Given the description of an element on the screen output the (x, y) to click on. 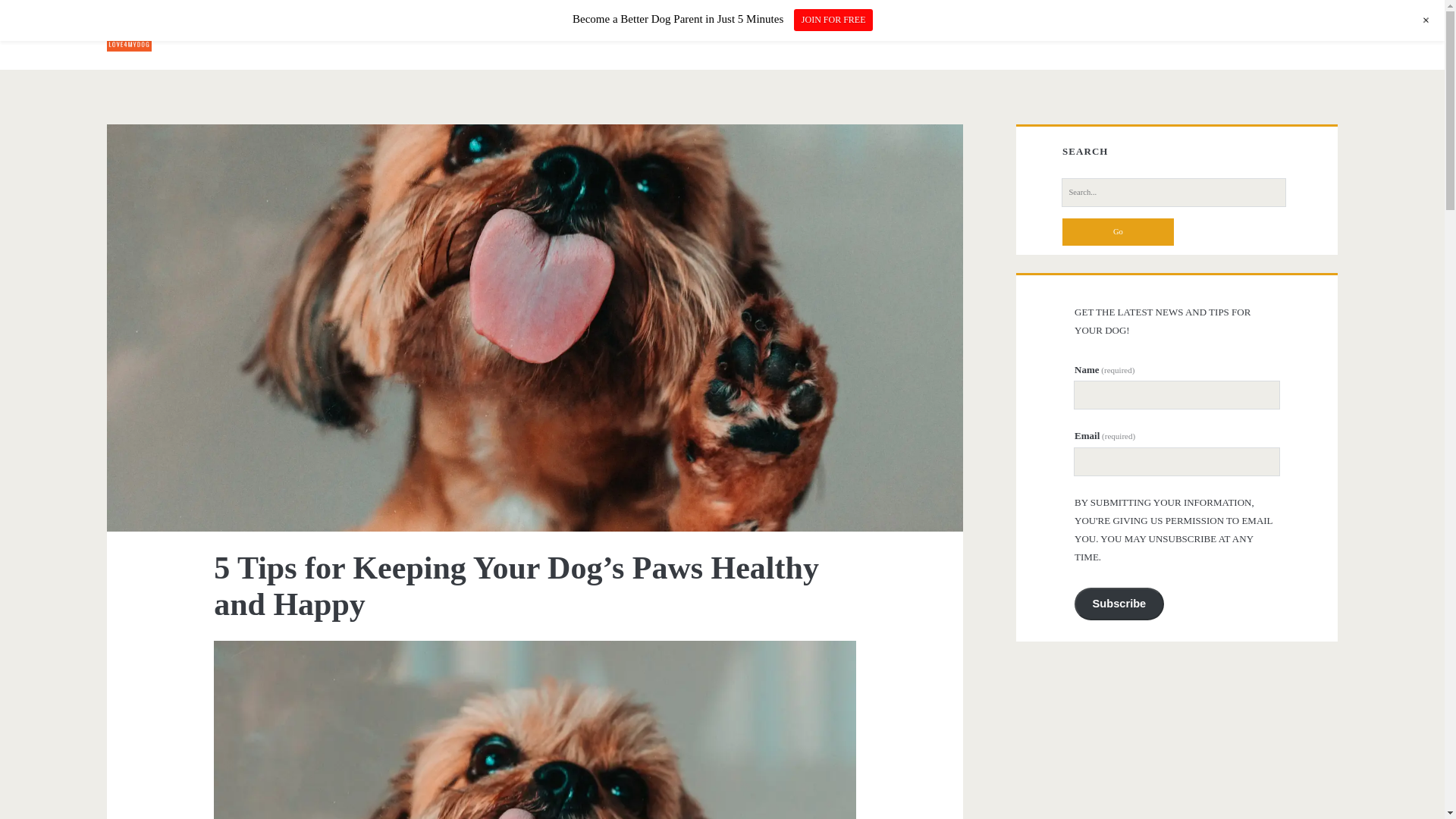
ABOUT US (531, 28)
Go (1117, 231)
Search for: (1173, 192)
Go (1117, 231)
JOIN US! (341, 28)
OUR STORE (457, 28)
JOIN FOR FREE (833, 20)
Go (1117, 231)
Subscribe (1118, 604)
